Given the description of an element on the screen output the (x, y) to click on. 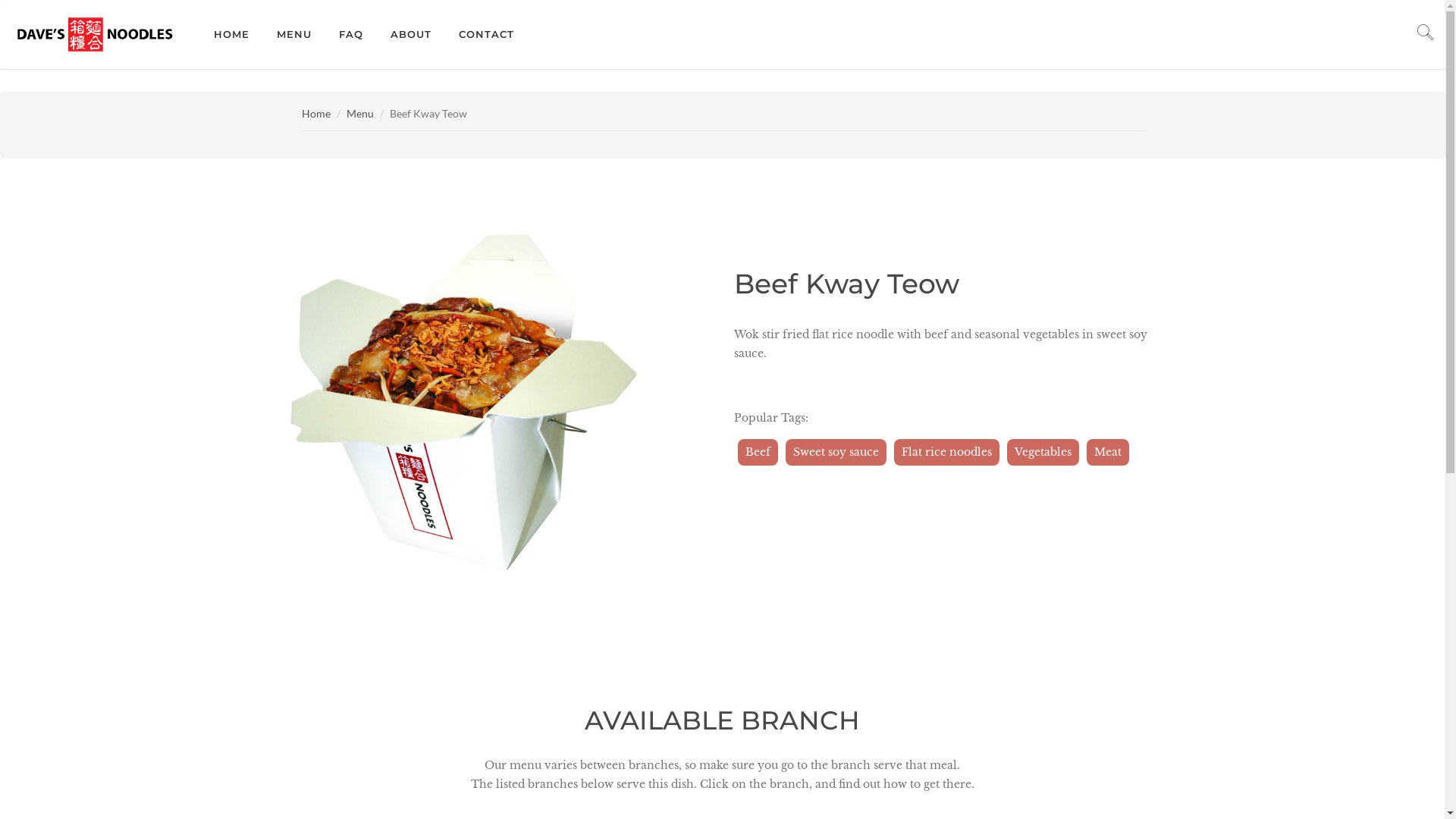
CONTACT Element type: text (486, 34)
HOME Element type: text (231, 34)
Menu Element type: text (359, 112)
Home Element type: text (315, 112)
MENU Element type: text (294, 34)
FAQ Element type: text (350, 34)
ABOUT Element type: text (410, 34)
